Given the description of an element on the screen output the (x, y) to click on. 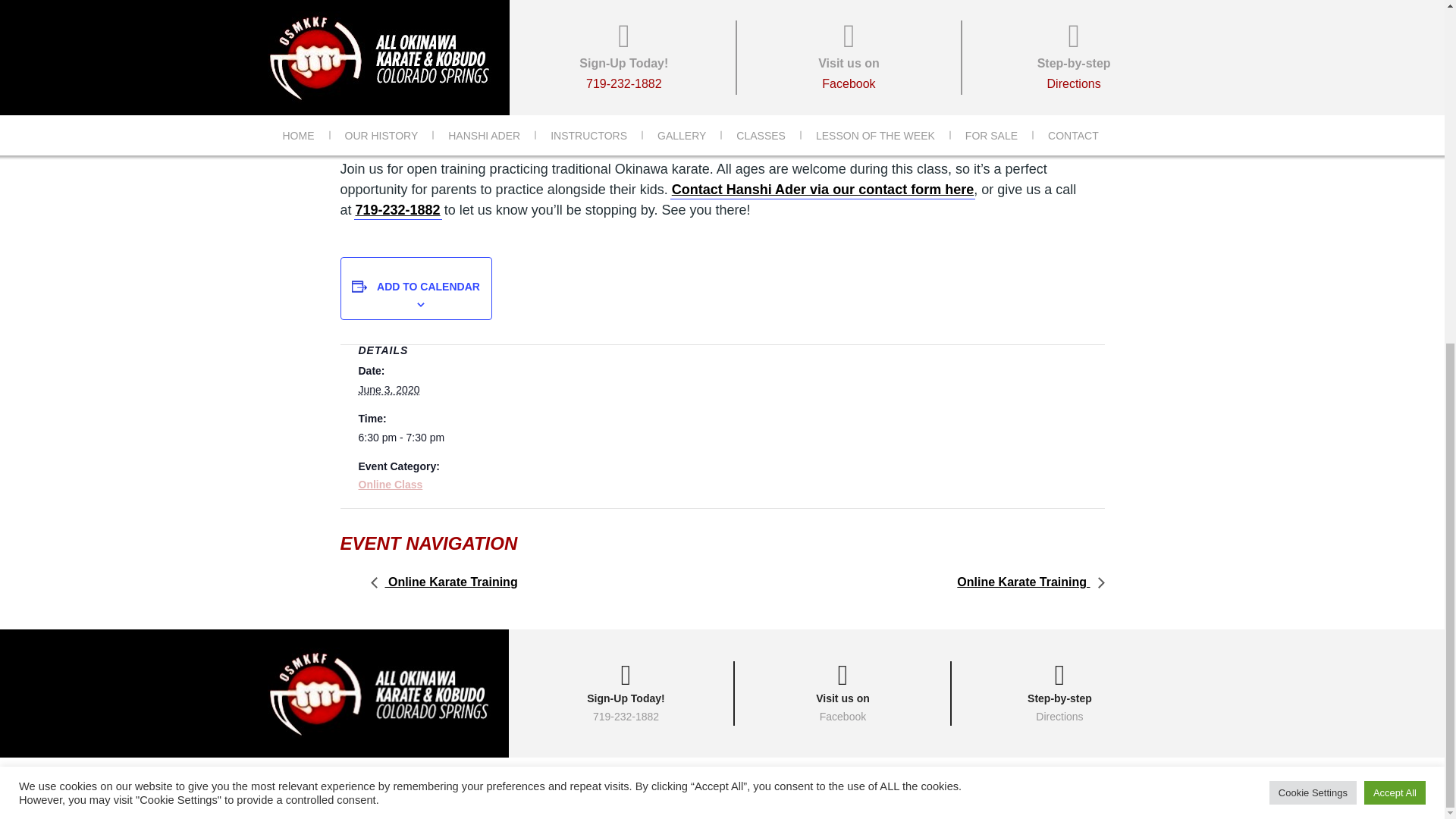
ADD TO CALENDAR (625, 692)
719-232-1882 (428, 286)
Online Karate Training (397, 210)
2020-06-03 (1026, 581)
Online Karate Training (388, 389)
Contact Hanshi Ader via our contact form here (447, 581)
Higher Images Inc. (822, 189)
2020-06-03 (910, 779)
Online Class (403, 437)
